Given the description of an element on the screen output the (x, y) to click on. 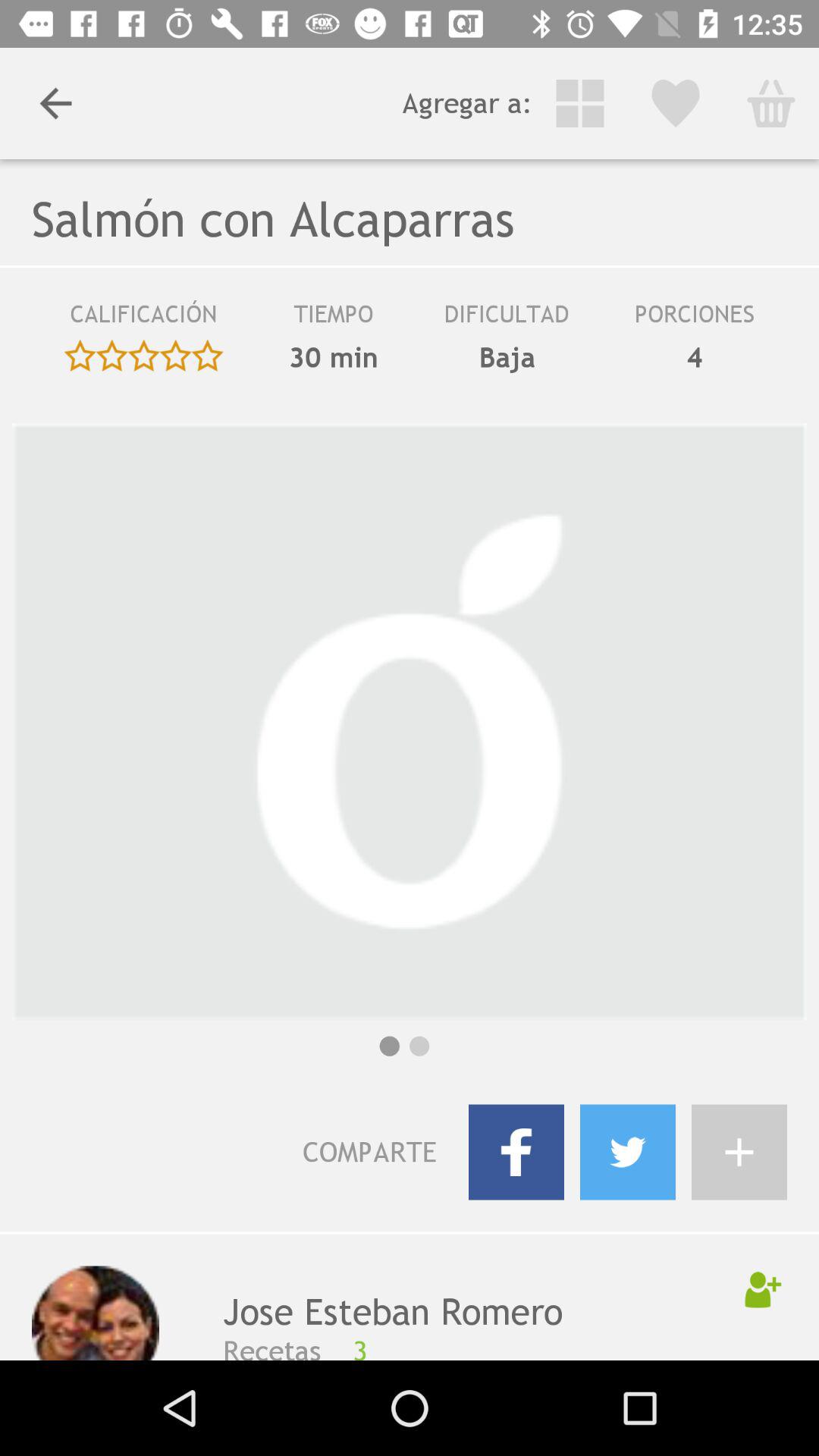
press the item to the left of agregar a: item (55, 103)
